Given the description of an element on the screen output the (x, y) to click on. 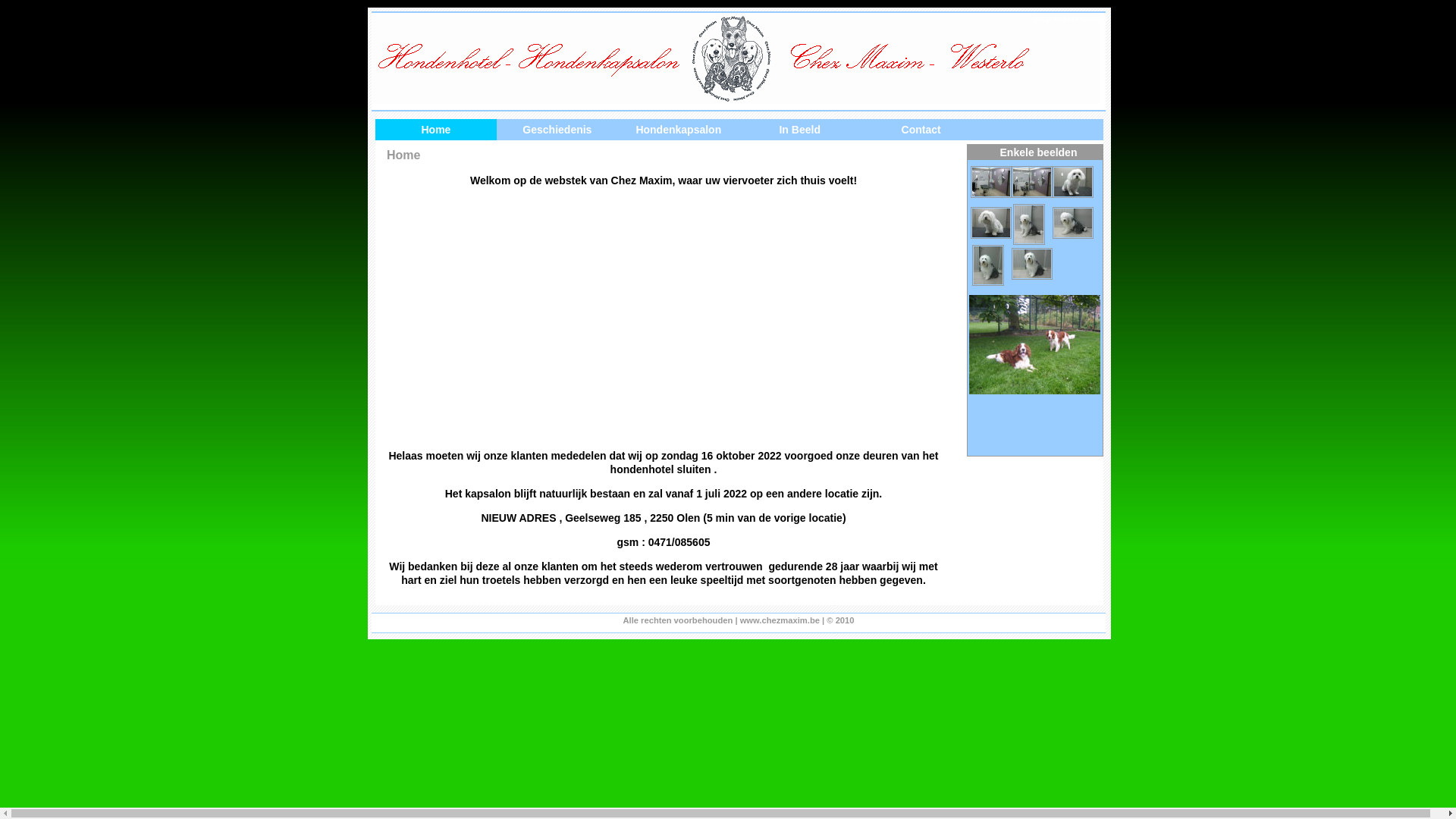
Voor de kappers beurt Element type: hover (990, 222)
Charlot voor de kappers beurt Element type: hover (1028, 223)
Skip to Navigation Element type: text (1069, 17)
Charlot na de kappers beurt Element type: hover (988, 264)
Charlot na de kappers beurt Element type: hover (1031, 263)
Contact Element type: text (921, 129)
Hondenkapsalon Element type: text (678, 129)
speelweide Element type: hover (1035, 344)
In Beeld Element type: text (799, 129)
Na de kappers beurt Element type: hover (1072, 181)
Trimsalon Element type: hover (990, 181)
Trimsalon met Cooper Element type: hover (1031, 181)
Home Element type: text (435, 129)
Charlot voor de kappers beurt Element type: hover (1072, 222)
Geschiedenis Element type: text (557, 129)
